Given the description of an element on the screen output the (x, y) to click on. 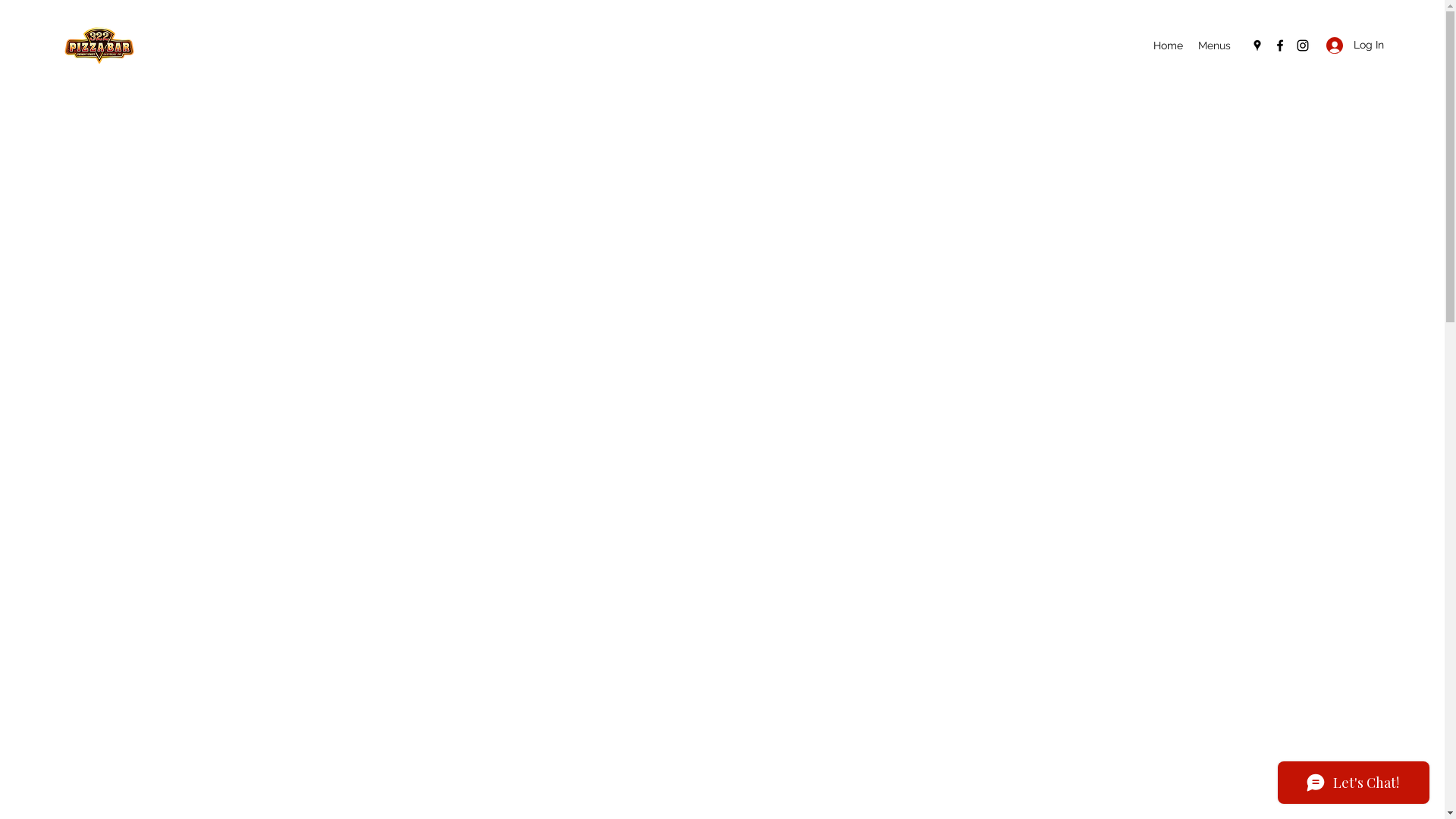
Home Element type: text (1167, 45)
Menus Element type: text (1214, 45)
Log In Element type: text (1349, 45)
